Given the description of an element on the screen output the (x, y) to click on. 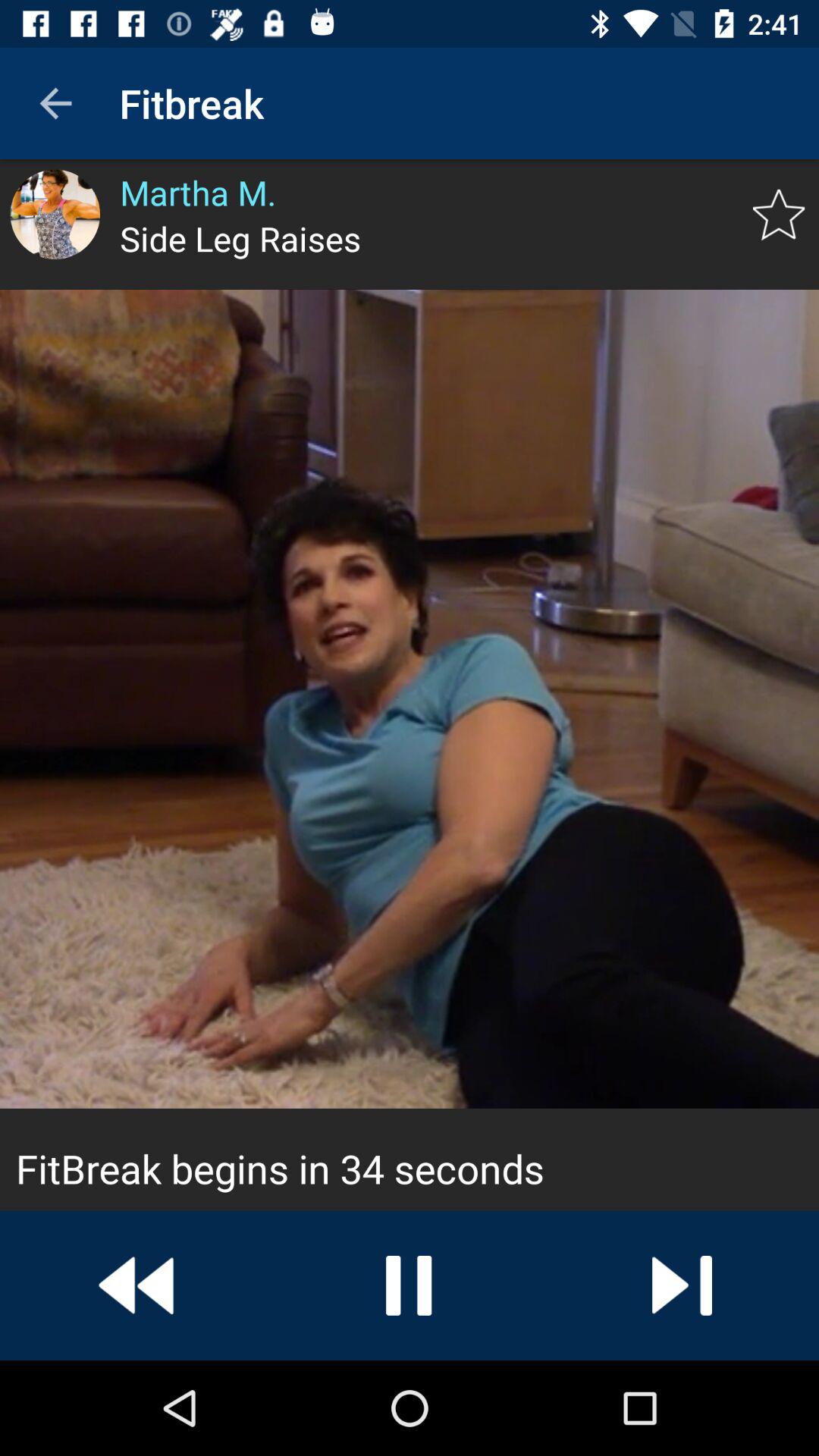
go back (136, 1285)
